Given the description of an element on the screen output the (x, y) to click on. 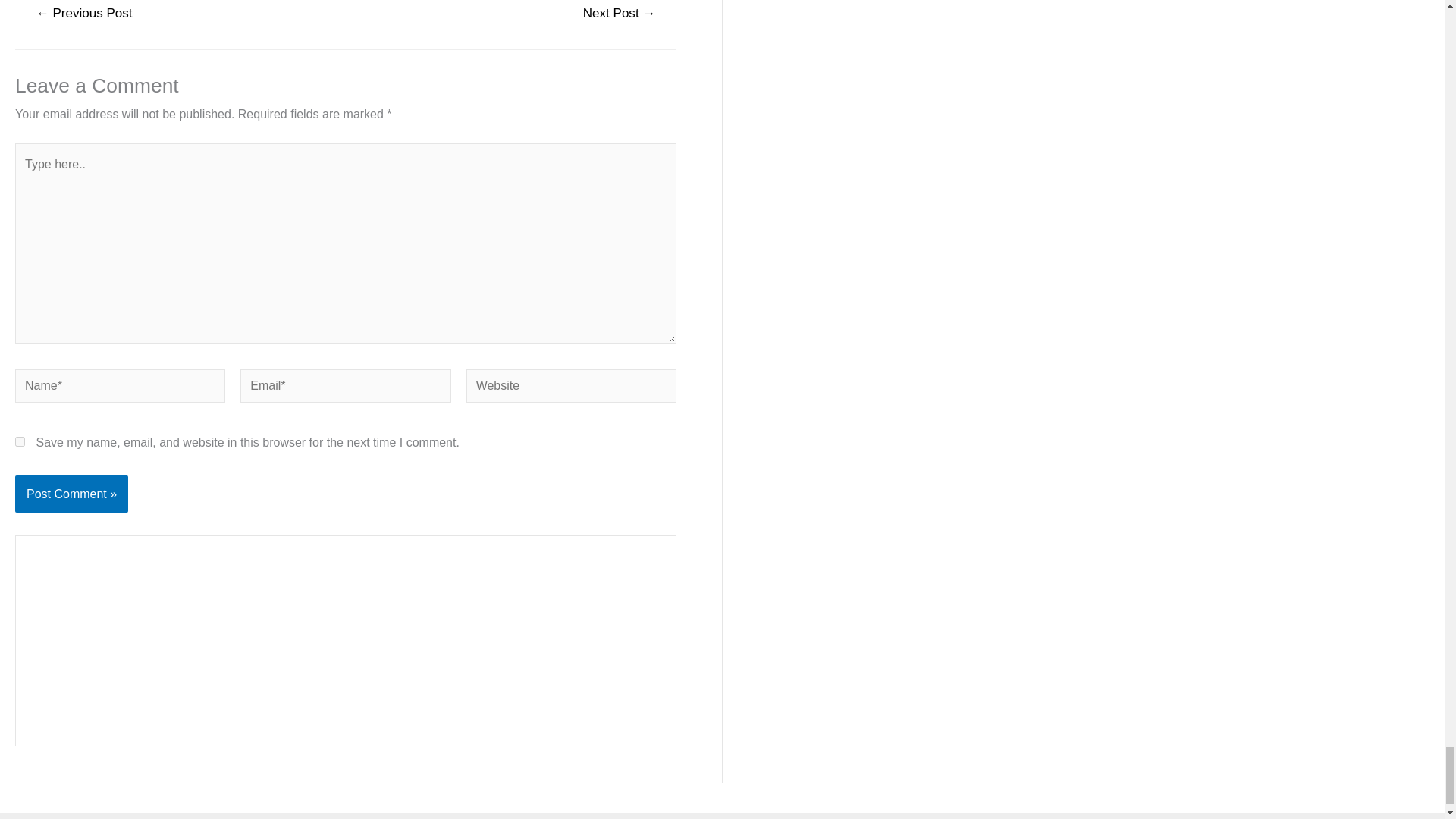
yes (19, 441)
